Given the description of an element on the screen output the (x, y) to click on. 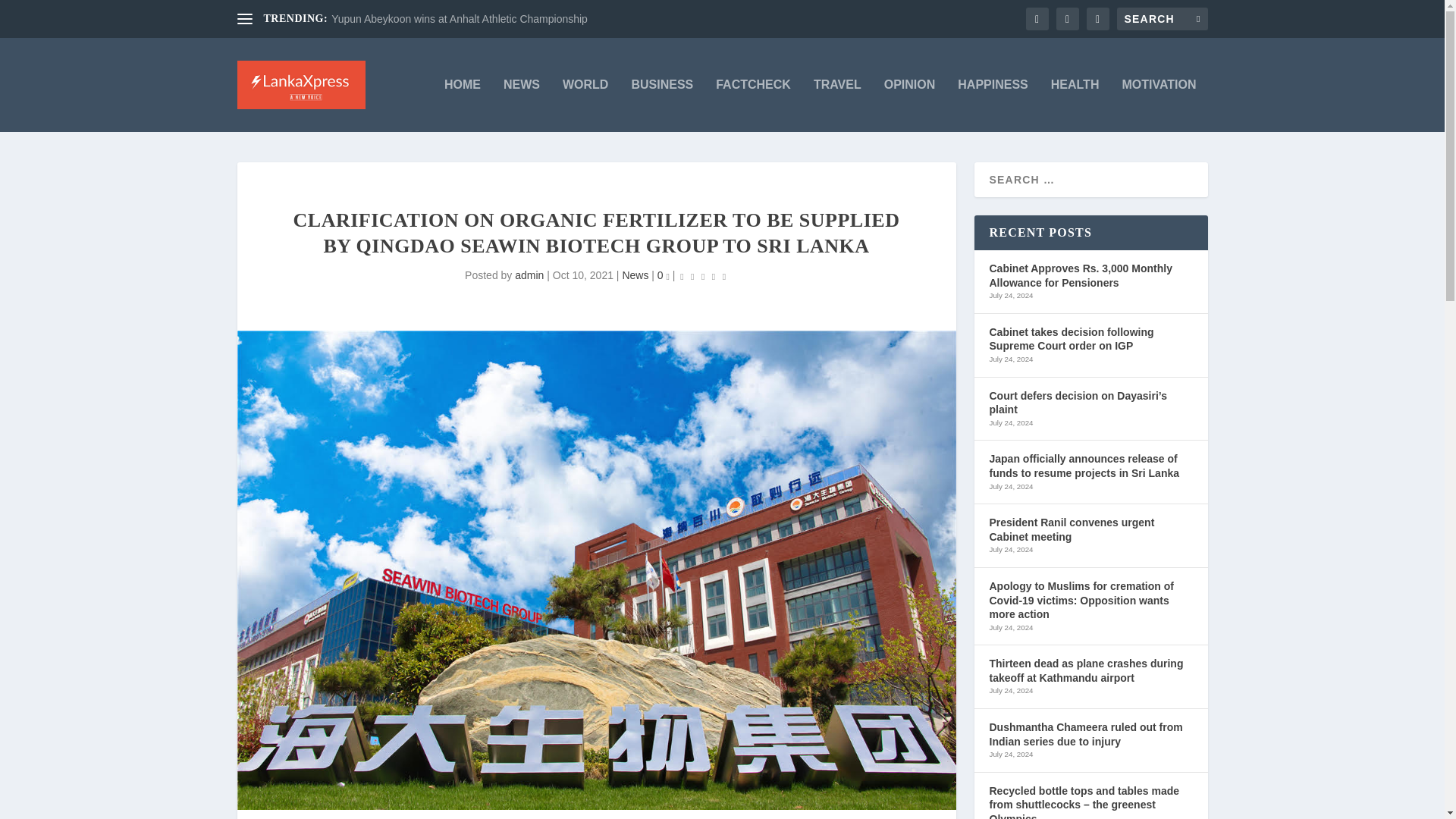
comment count (667, 276)
OPINION (909, 104)
HAPPINESS (992, 104)
HEALTH (1075, 104)
Search for: (1161, 18)
Posts by admin (529, 275)
HOME (462, 104)
admin (529, 275)
0 (663, 275)
MOTIVATION (1158, 104)
TRAVEL (837, 104)
NEWS (521, 104)
Rating: 0.00 (703, 275)
Yupun Abeykoon wins at Anhalt Athletic Championship (459, 19)
FACTCHECK (753, 104)
